Given the description of an element on the screen output the (x, y) to click on. 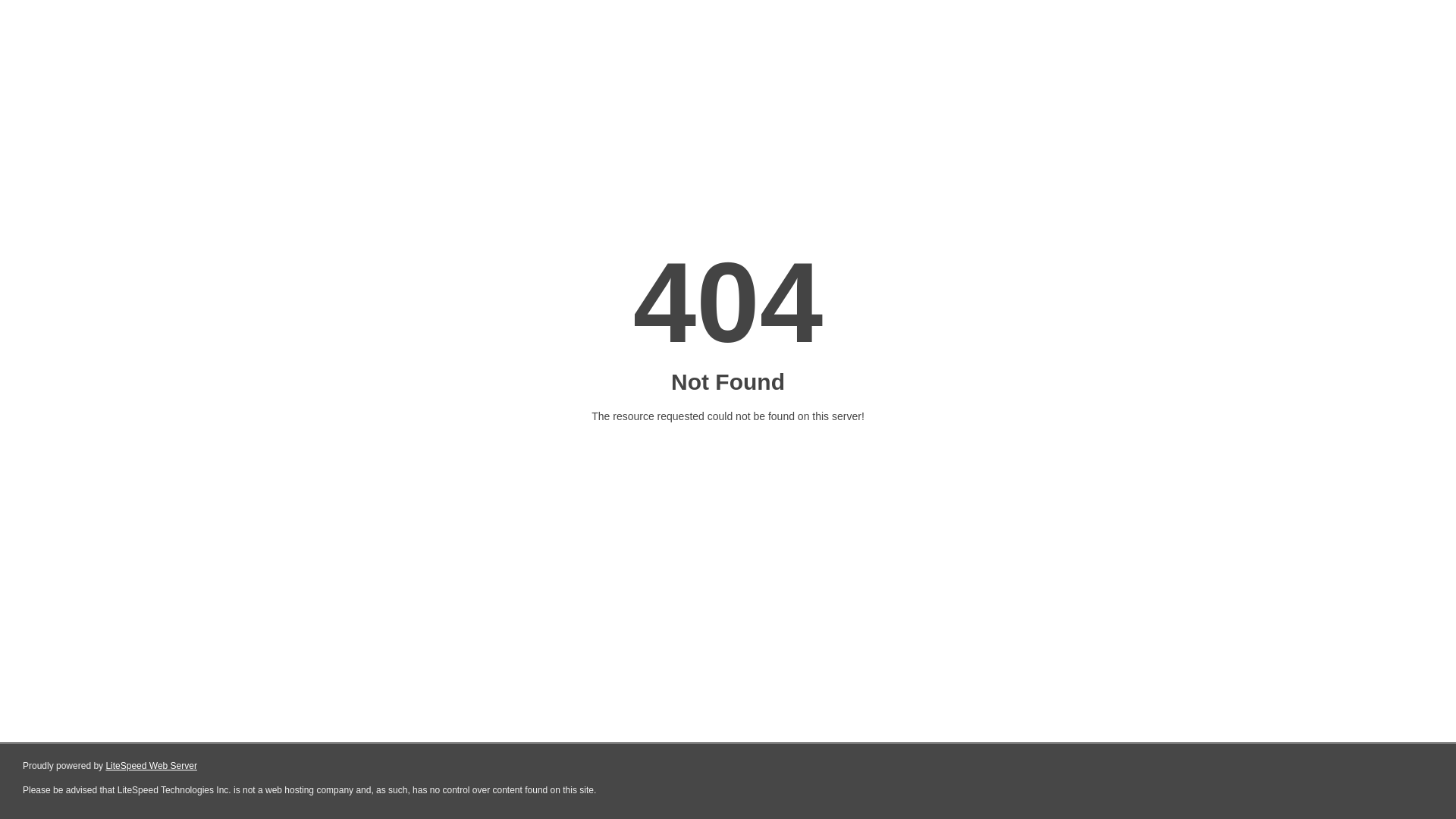
LiteSpeed Web Server Element type: text (151, 765)
